Given the description of an element on the screen output the (x, y) to click on. 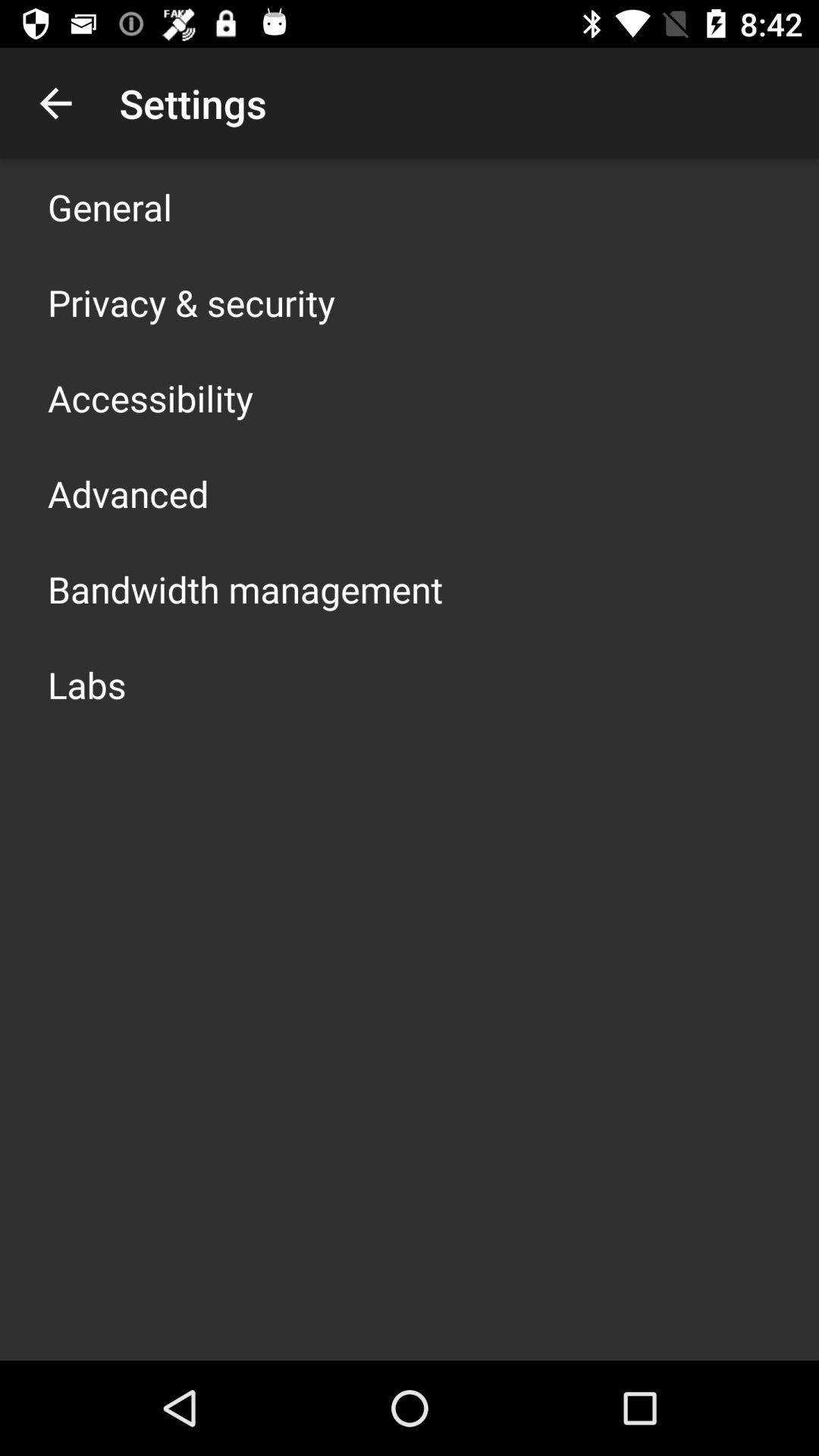
flip to the advanced item (127, 493)
